Given the description of an element on the screen output the (x, y) to click on. 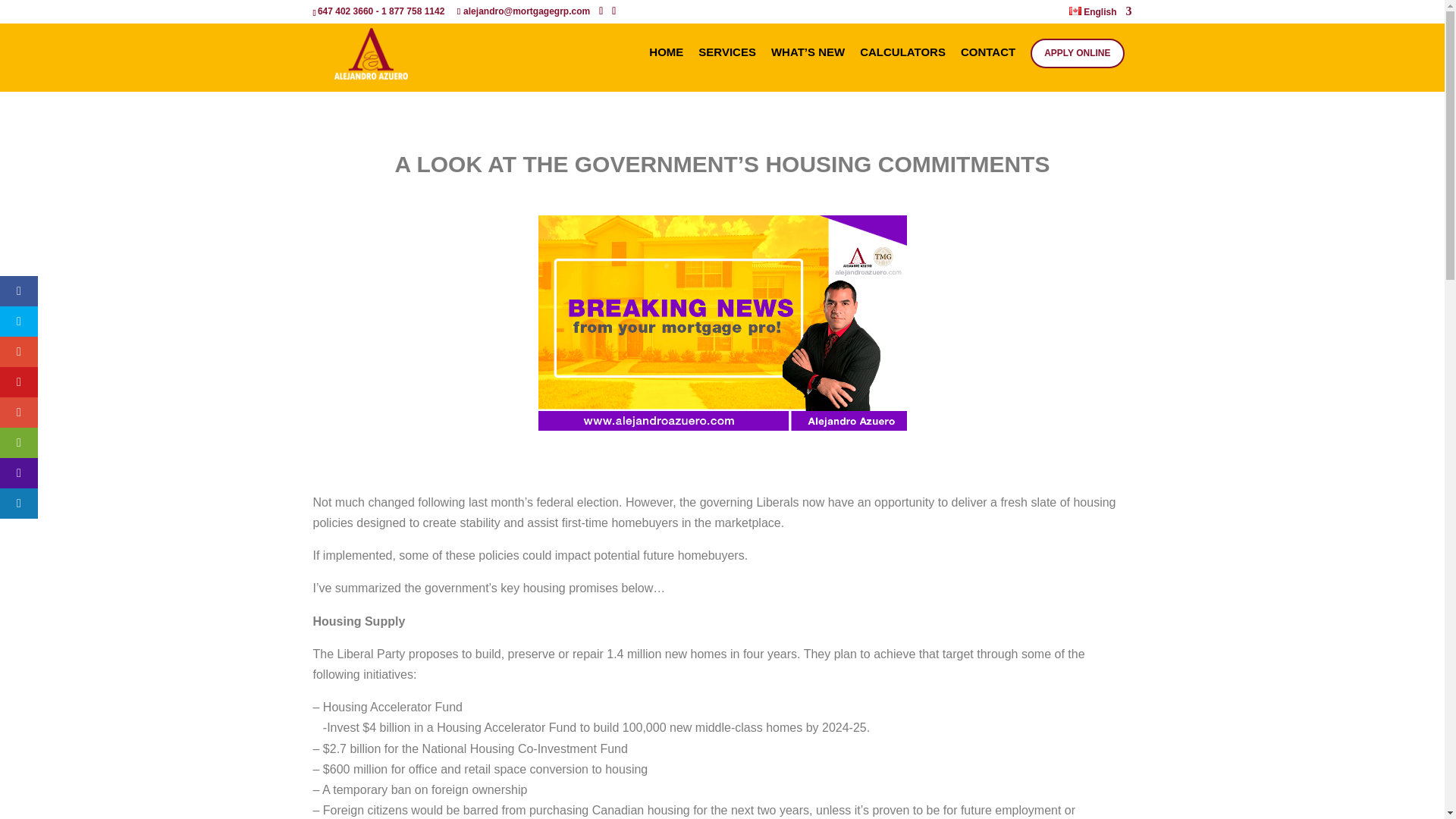
English Element type: text (1100, 14)
CALCULATORS Element type: text (902, 69)
SERVICES Element type: text (727, 69)
CONTACT Element type: text (987, 69)
alejandro@mortgagegrp.com Element type: text (523, 11)
HOME Element type: text (666, 69)
APPLY ONLINE Element type: text (1076, 53)
